Given the description of an element on the screen output the (x, y) to click on. 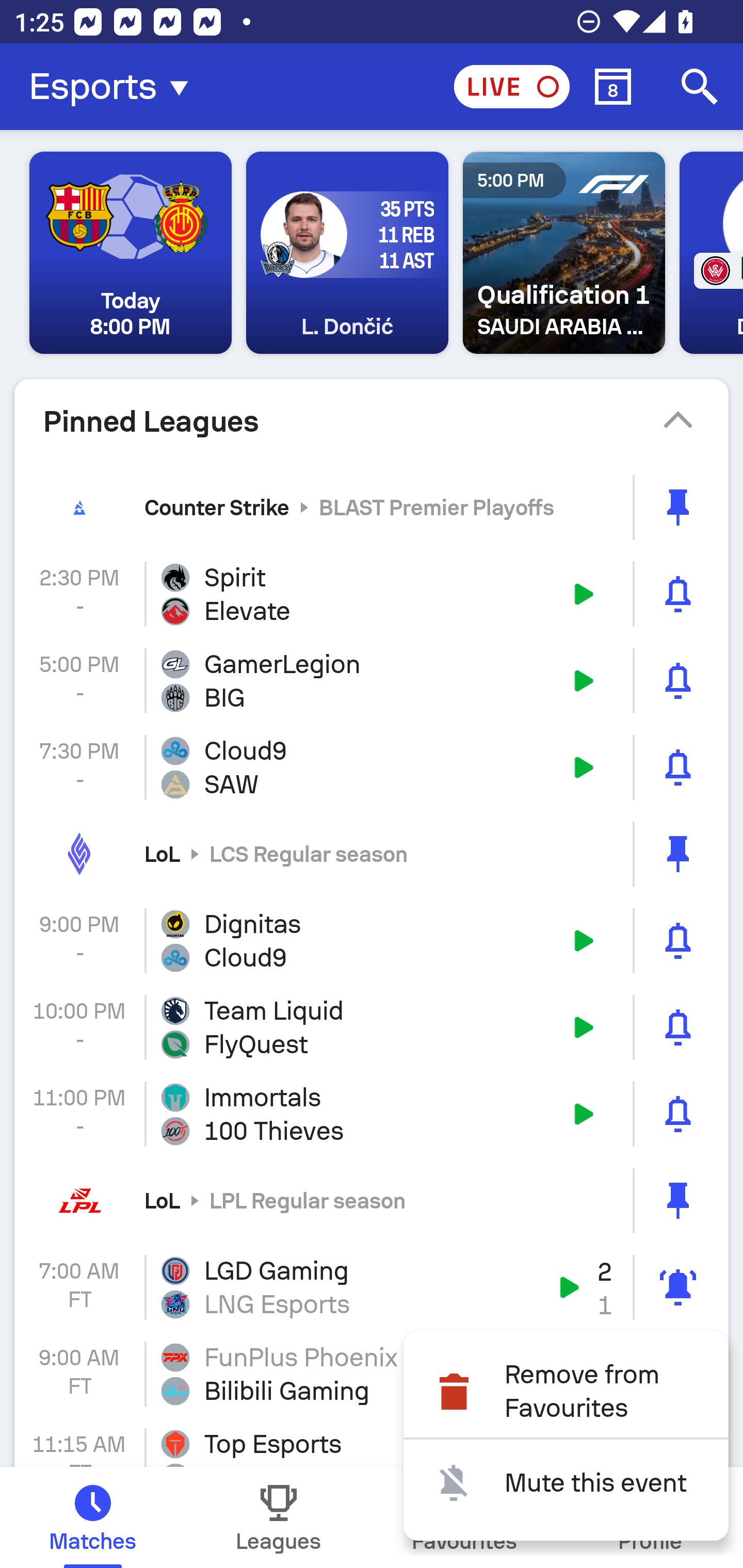
Remove from Favourites (565, 1391)
Mute this event (565, 1482)
